Given the description of an element on the screen output the (x, y) to click on. 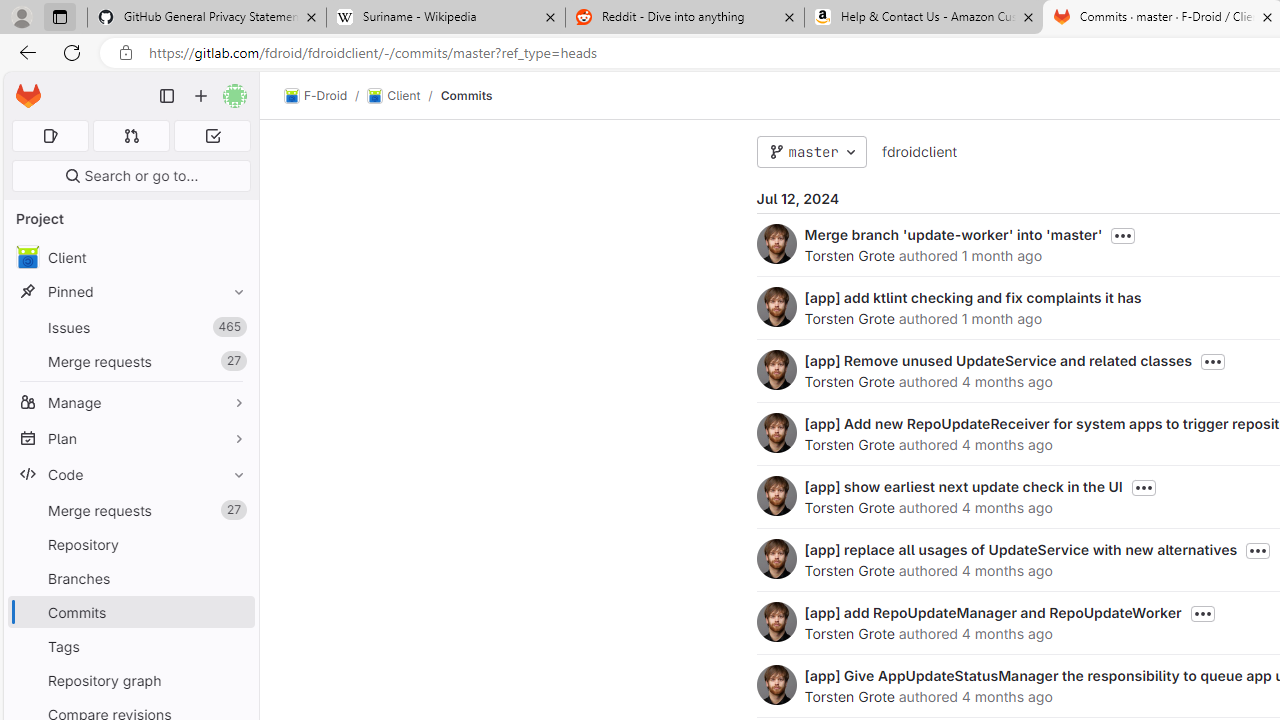
Toggle commit description (1202, 614)
Merge requests 0 (131, 136)
Plan (130, 438)
Pin Branches (234, 578)
Back (24, 52)
Torsten Grote's avatar (776, 684)
Homepage (27, 96)
Client/ (404, 96)
Branches (130, 578)
Primary navigation sidebar (167, 96)
Unpin Merge requests (234, 510)
Client (394, 96)
To-Do list 0 (212, 136)
Assigned issues 0 (50, 136)
